Given the description of an element on the screen output the (x, y) to click on. 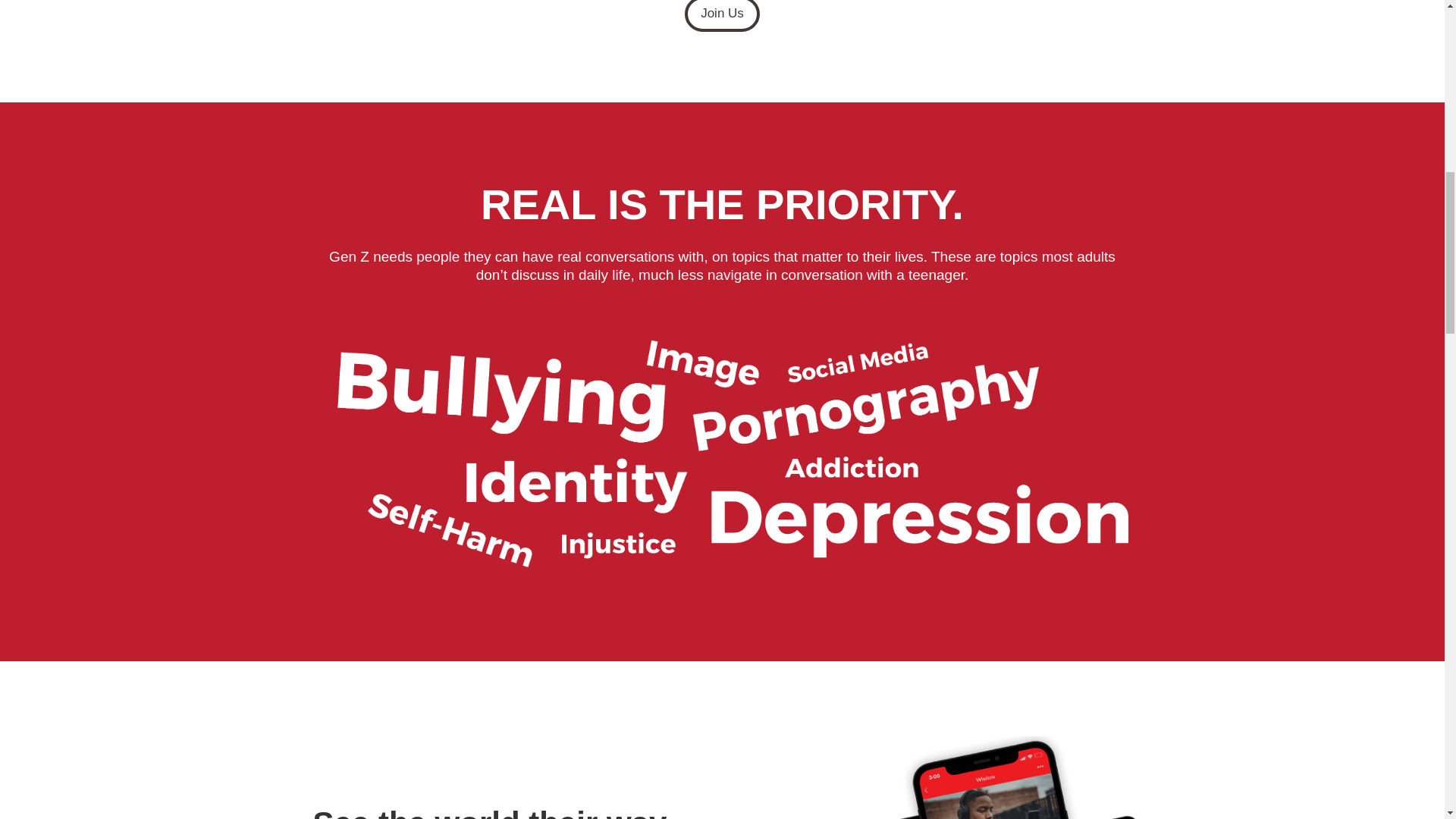
RealTalk-App-Devotionals-5 (982, 777)
Join Us (722, 15)
